Given the description of an element on the screen output the (x, y) to click on. 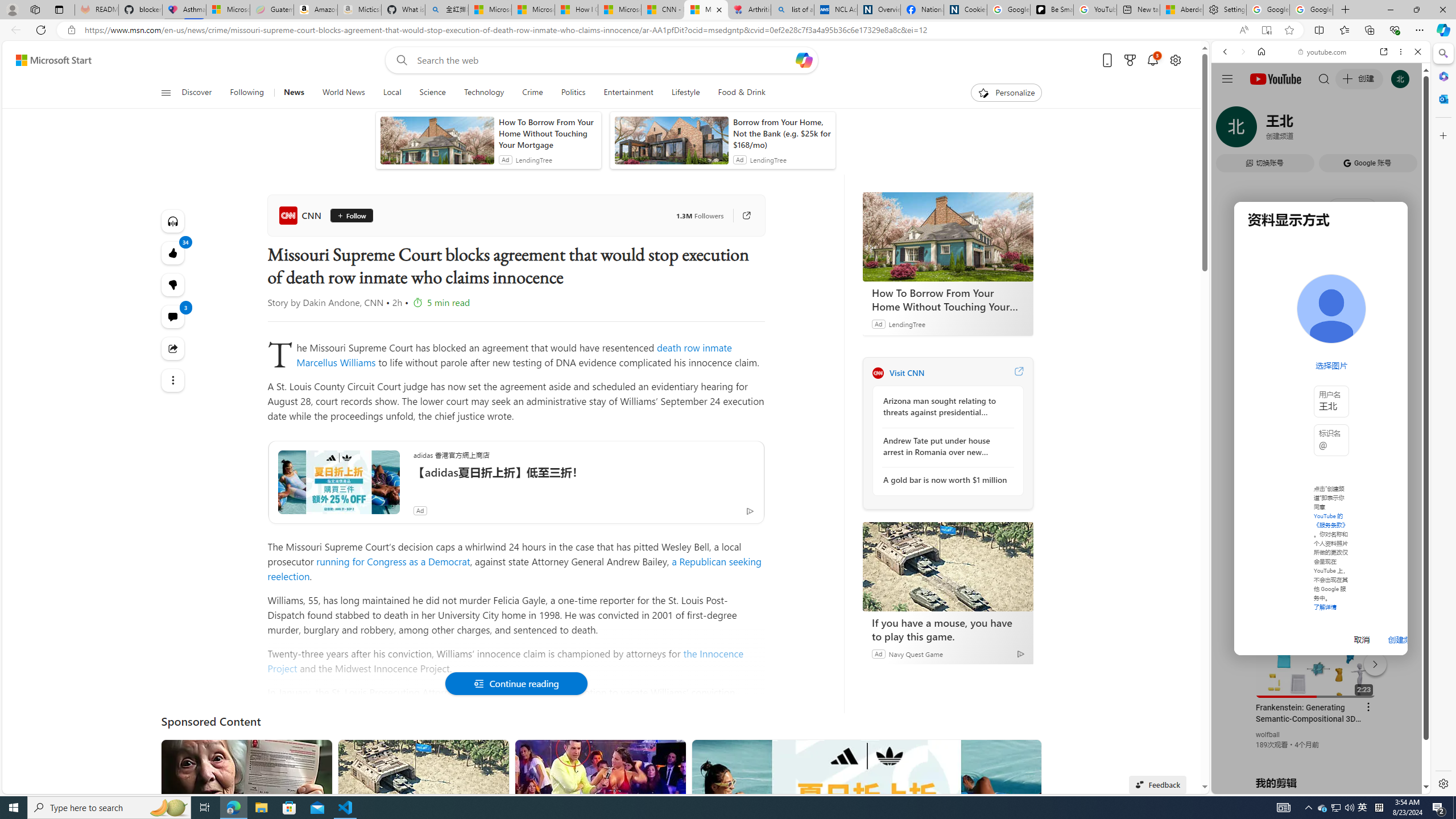
Navy Quest Game (915, 653)
death row inmate Marcellus Williams (514, 354)
you (1315, 755)
CNN (302, 215)
